Given the description of an element on the screen output the (x, y) to click on. 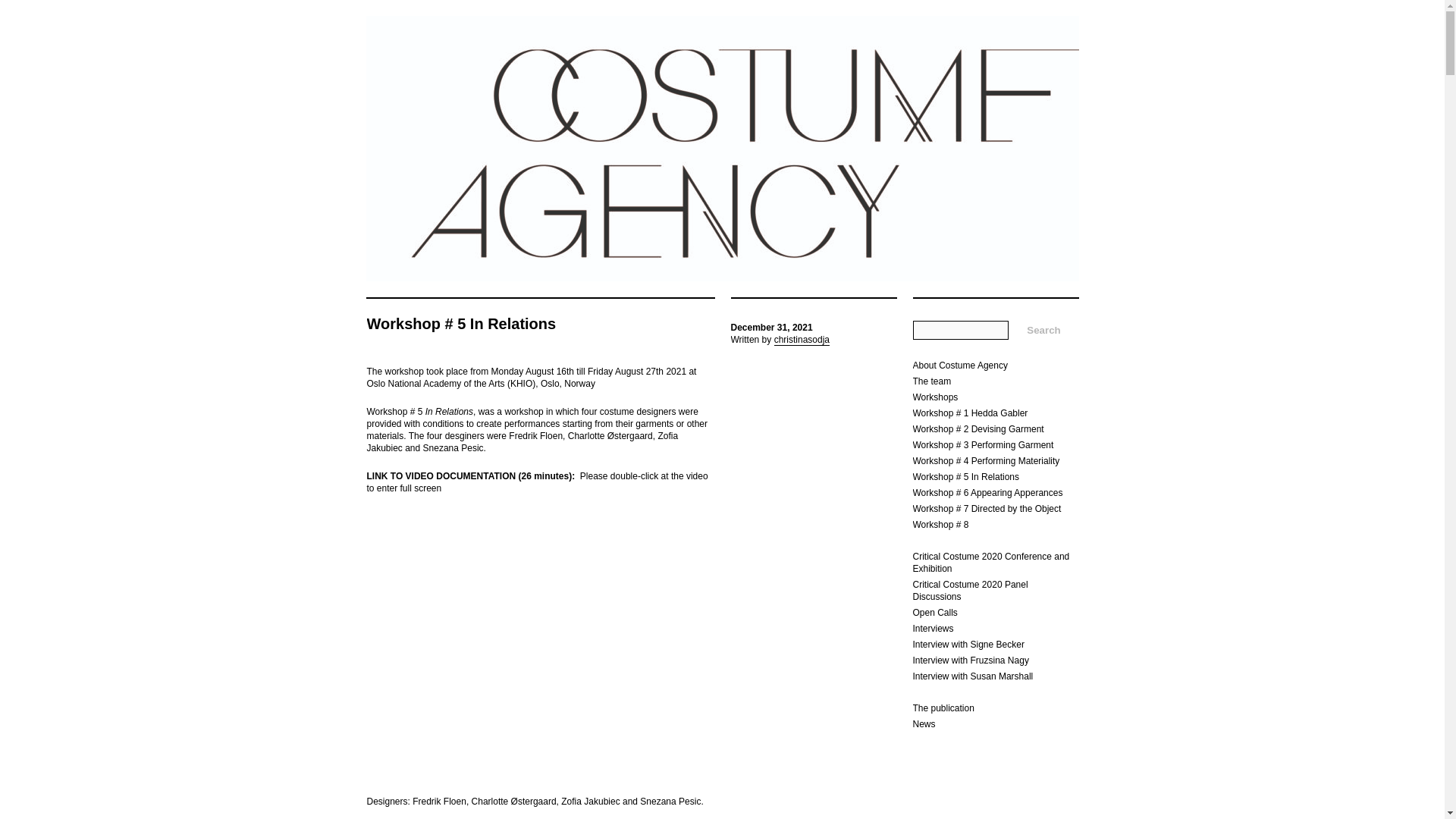
The publication (943, 707)
Workshops (935, 397)
About Costume Agency (959, 365)
Interview with Fruzsina Nagy (970, 660)
Interview with Susan Marshall (972, 675)
Interview with Signe Becker (968, 644)
The team (932, 380)
Interviews (932, 628)
View all posts by christinasodja (801, 339)
News (924, 724)
